Given the description of an element on the screen output the (x, y) to click on. 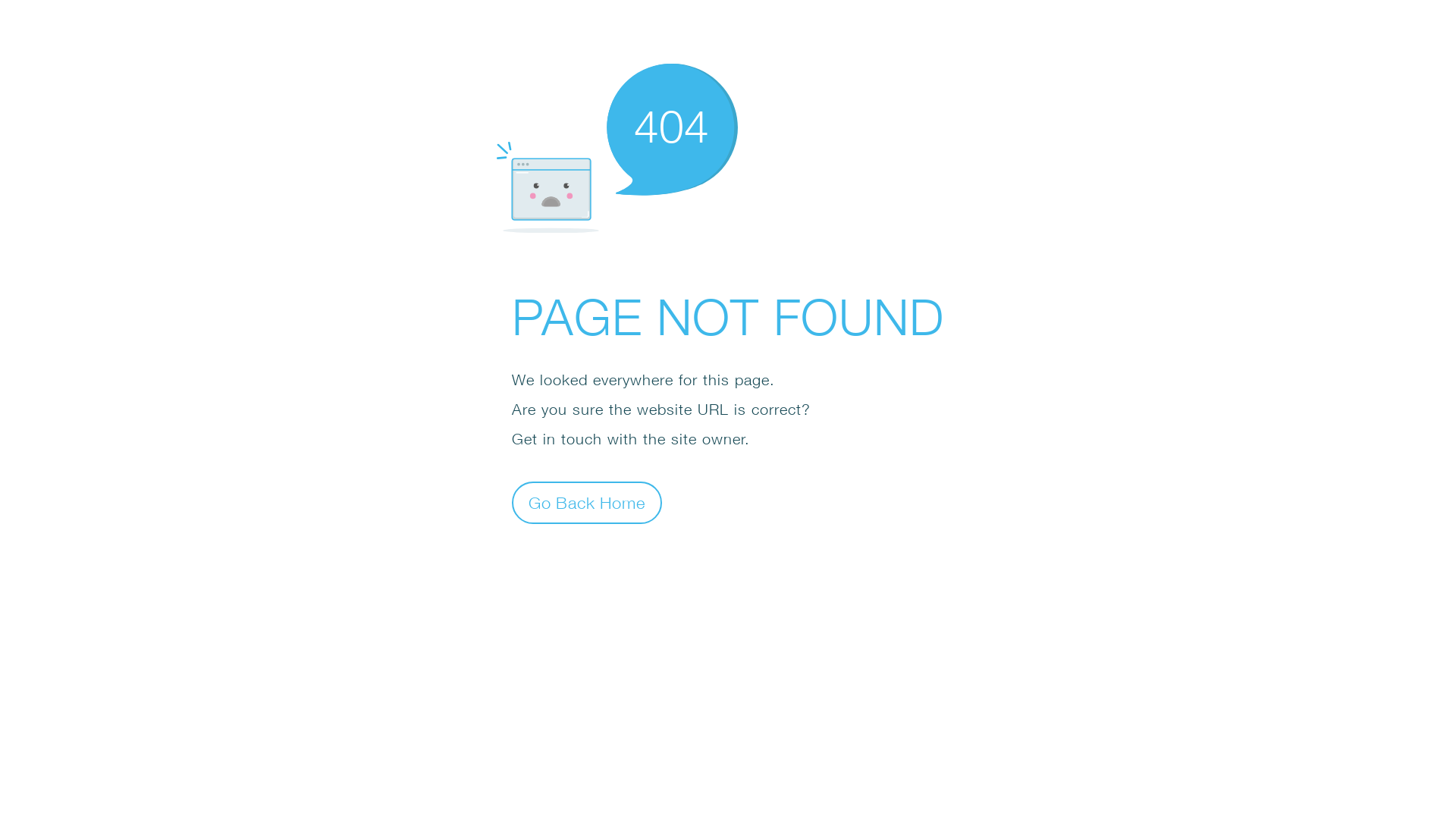
Go Back Home Element type: text (586, 502)
